Given the description of an element on the screen output the (x, y) to click on. 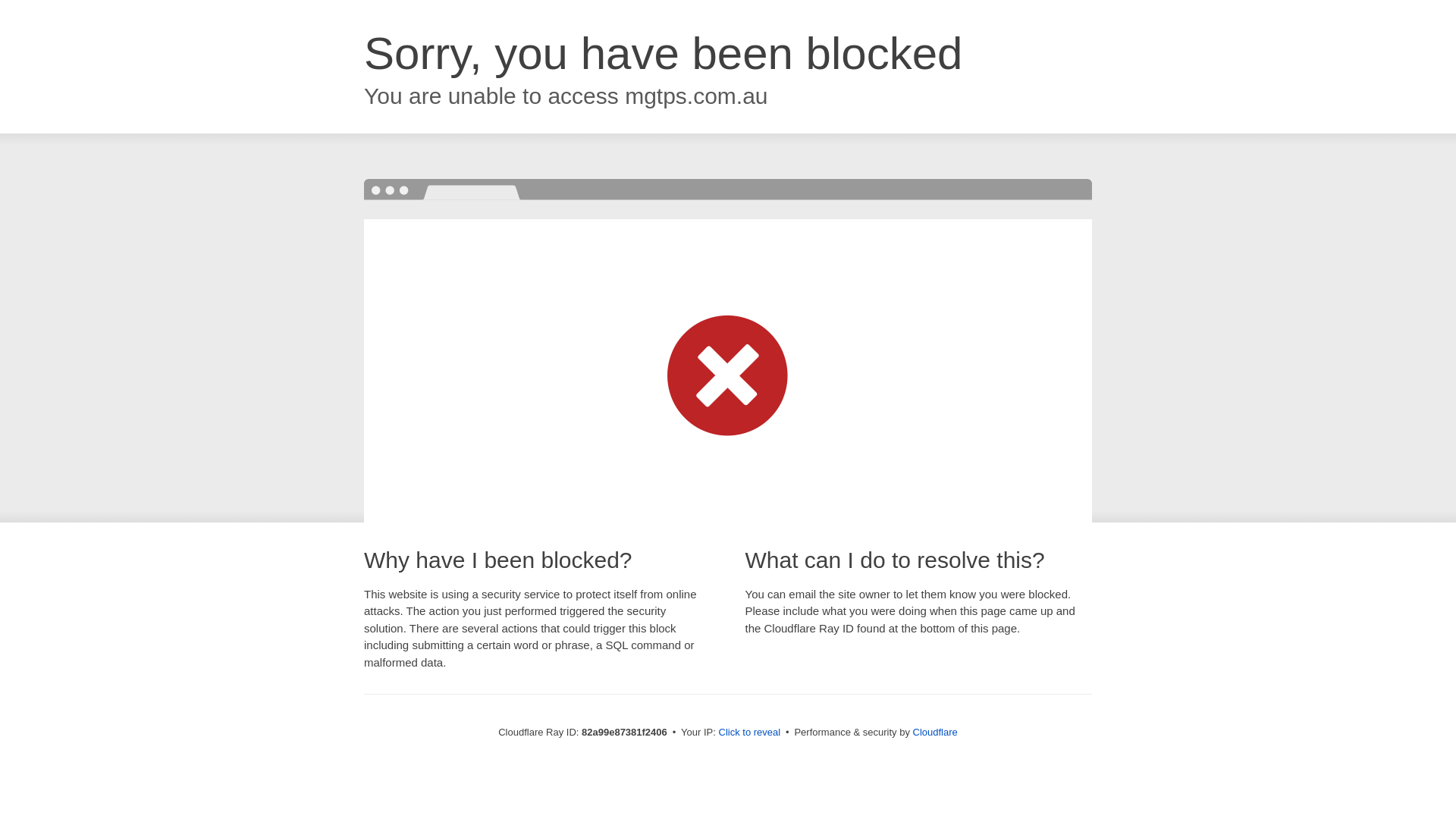
Cloudflare Element type: text (935, 731)
Click to reveal Element type: text (749, 732)
